Given the description of an element on the screen output the (x, y) to click on. 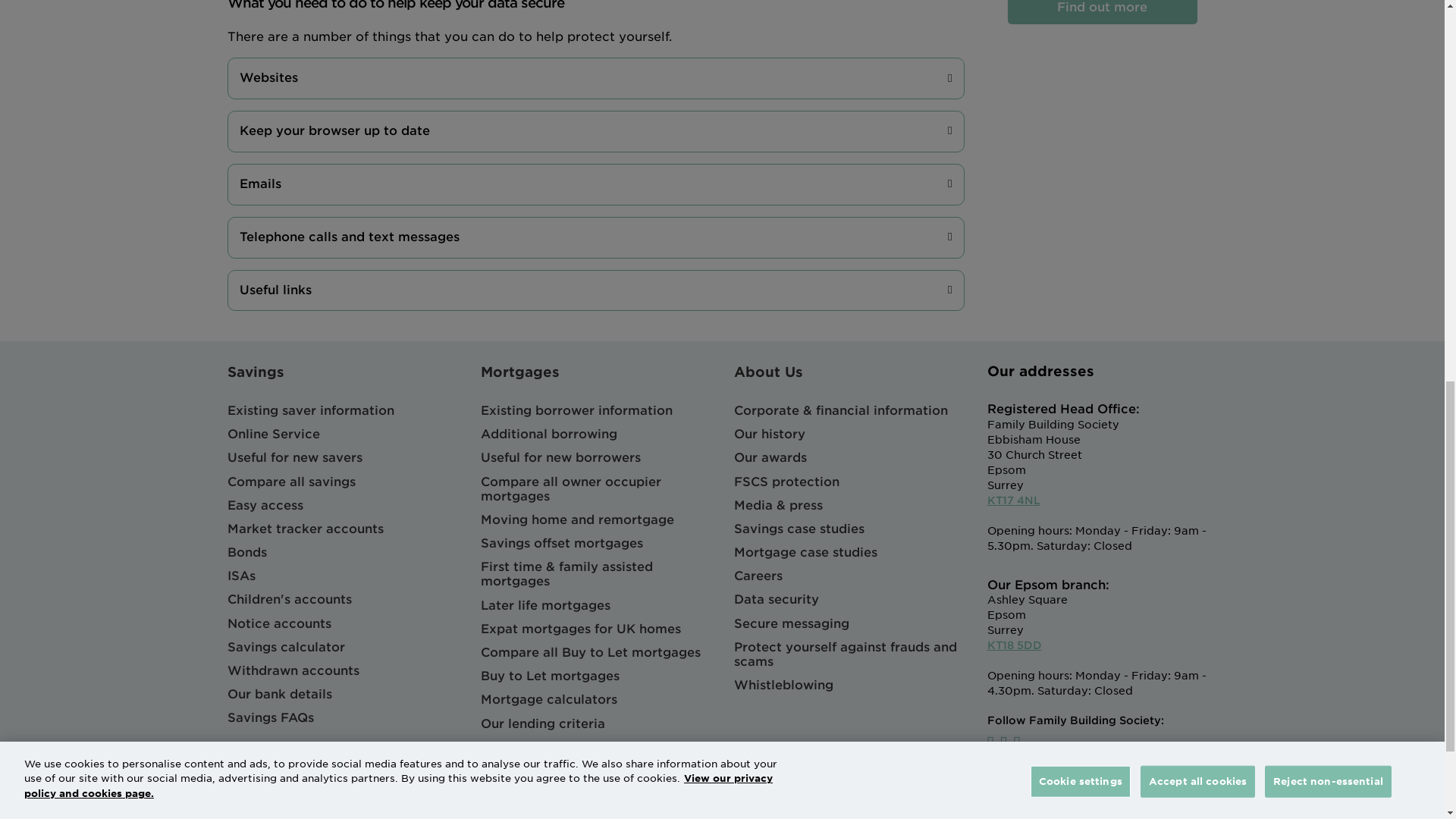
Follow us on LinkedIn (1016, 742)
Follow us on Twitter (1003, 742)
Follow us on Facebook (990, 742)
